Given the description of an element on the screen output the (x, y) to click on. 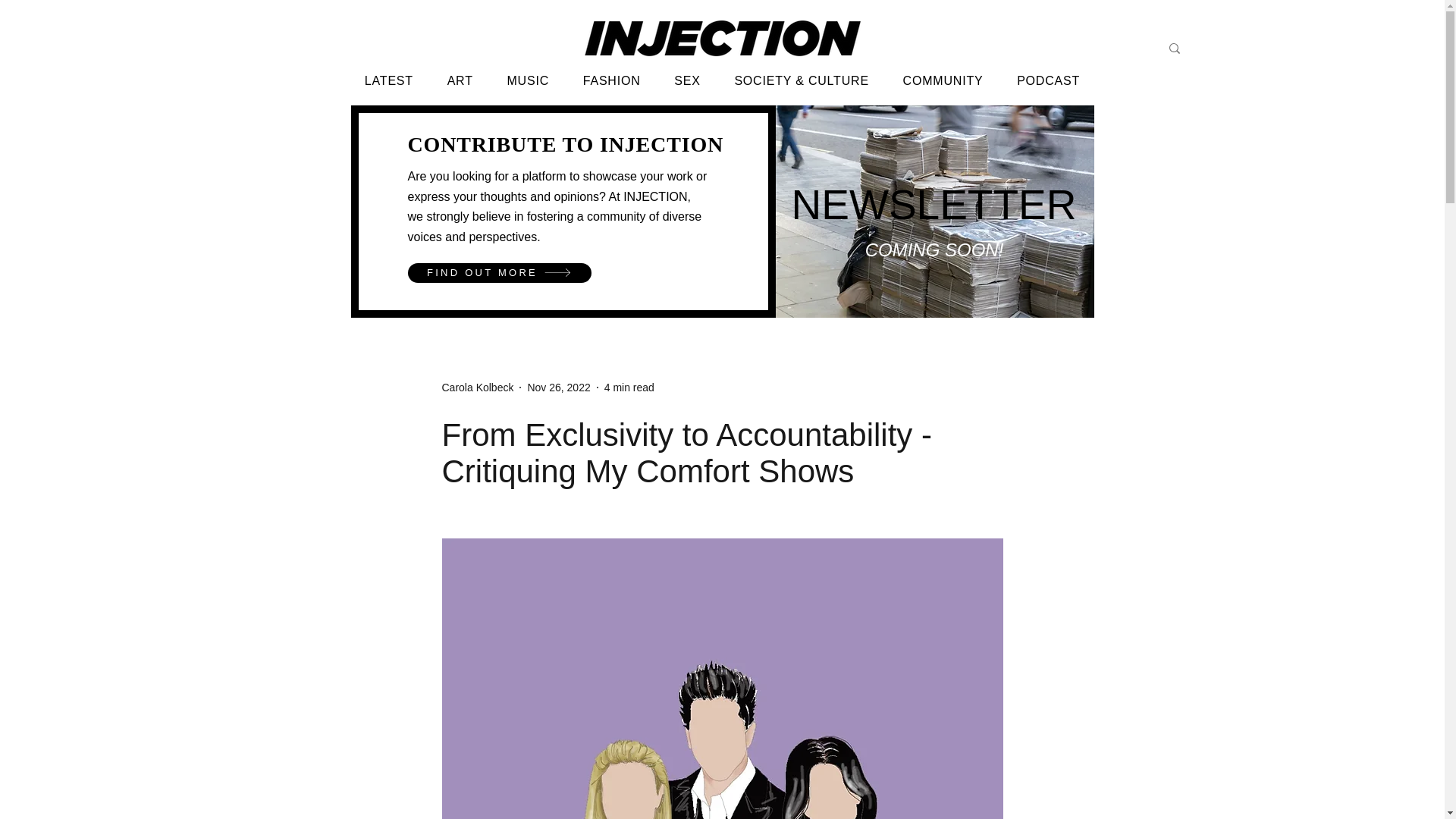
ART (459, 80)
Carola Kolbeck (477, 386)
COMMUNITY (942, 80)
LATEST (388, 80)
PODCAST (1048, 80)
Nov 26, 2022 (558, 386)
FIND OUT MORE (499, 272)
FASHION (611, 80)
SEX (687, 80)
MUSIC (527, 80)
